Given the description of an element on the screen output the (x, y) to click on. 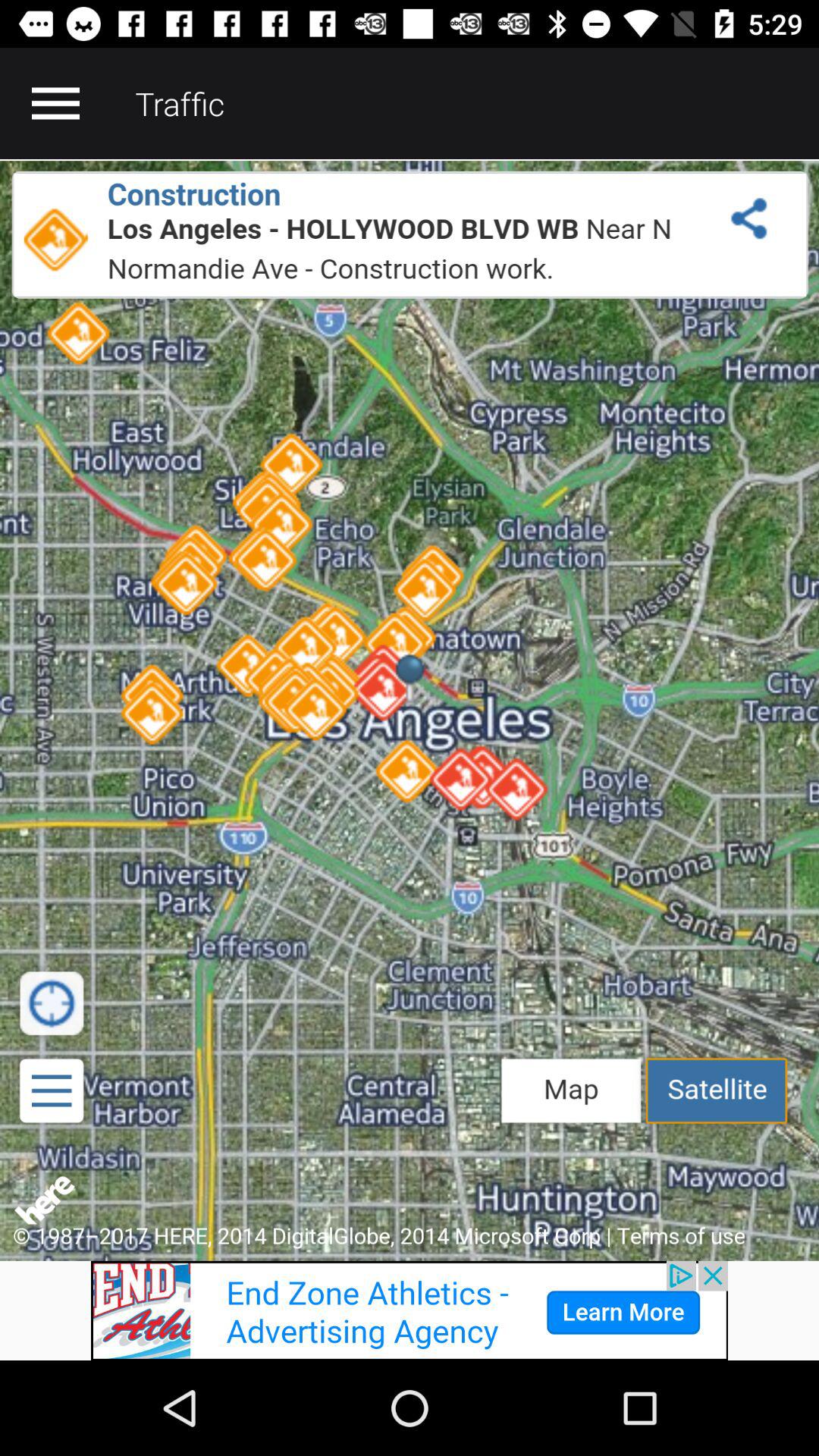
google map (409, 709)
